Given the description of an element on the screen output the (x, y) to click on. 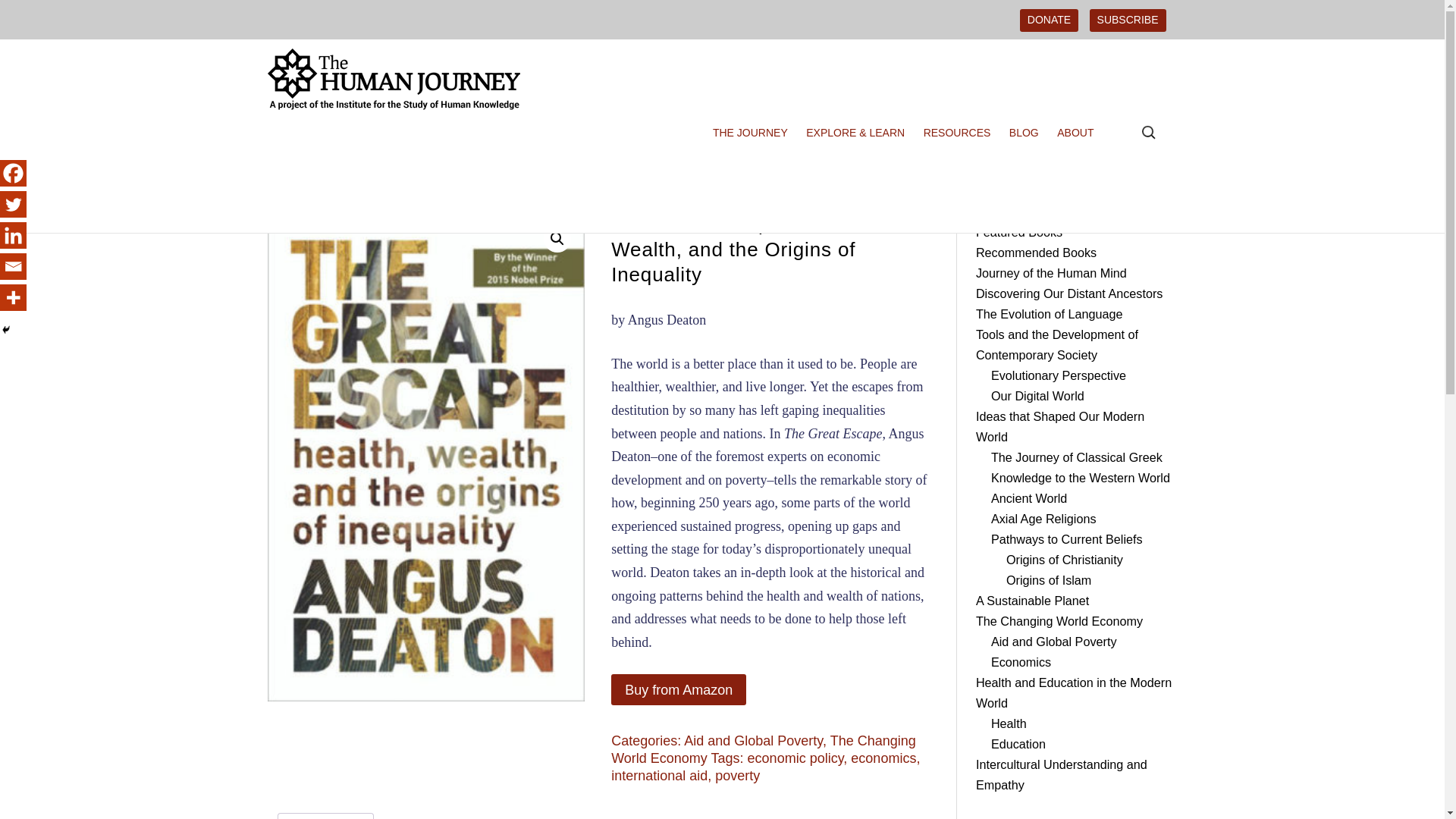
RESOURCES (960, 133)
Twitter (13, 203)
BLOG (1027, 133)
SUBSCRIBE (1127, 20)
Aid and Global Poverty (554, 163)
Facebook (13, 172)
economic policy (796, 758)
The Changing World Economy (406, 163)
THE JOURNEY (753, 133)
